Given the description of an element on the screen output the (x, y) to click on. 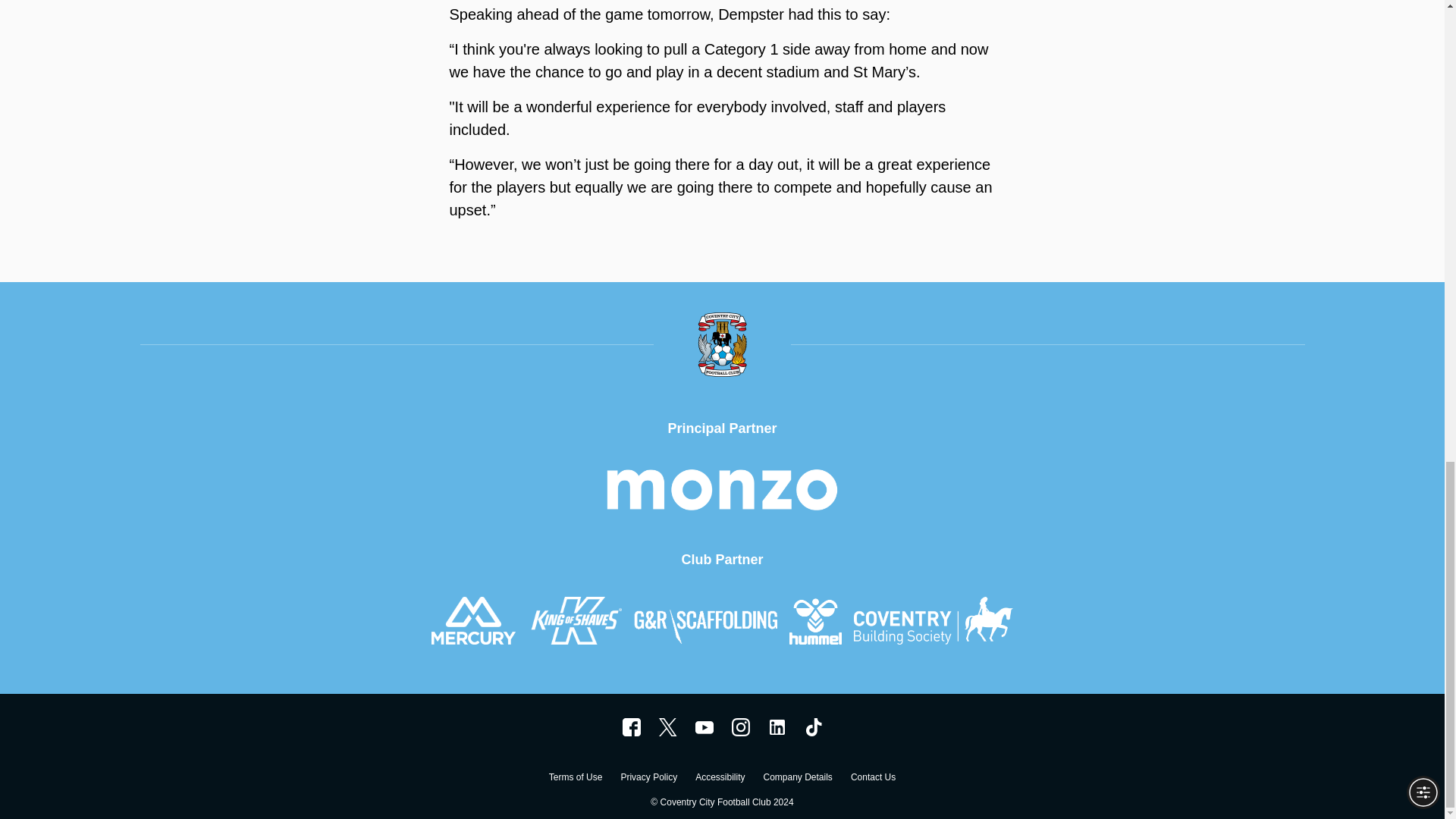
Terms of Use (575, 779)
Contact Us (872, 779)
Accessibility (719, 779)
Privacy Policy (648, 779)
Company Details (796, 779)
Coventry City Football Club (776, 727)
Privacy Policy (648, 779)
Contact Us (872, 779)
Terms of Use (575, 779)
Accessibility (719, 779)
Company Details (796, 779)
Coventry City FC (630, 727)
